Given the description of an element on the screen output the (x, y) to click on. 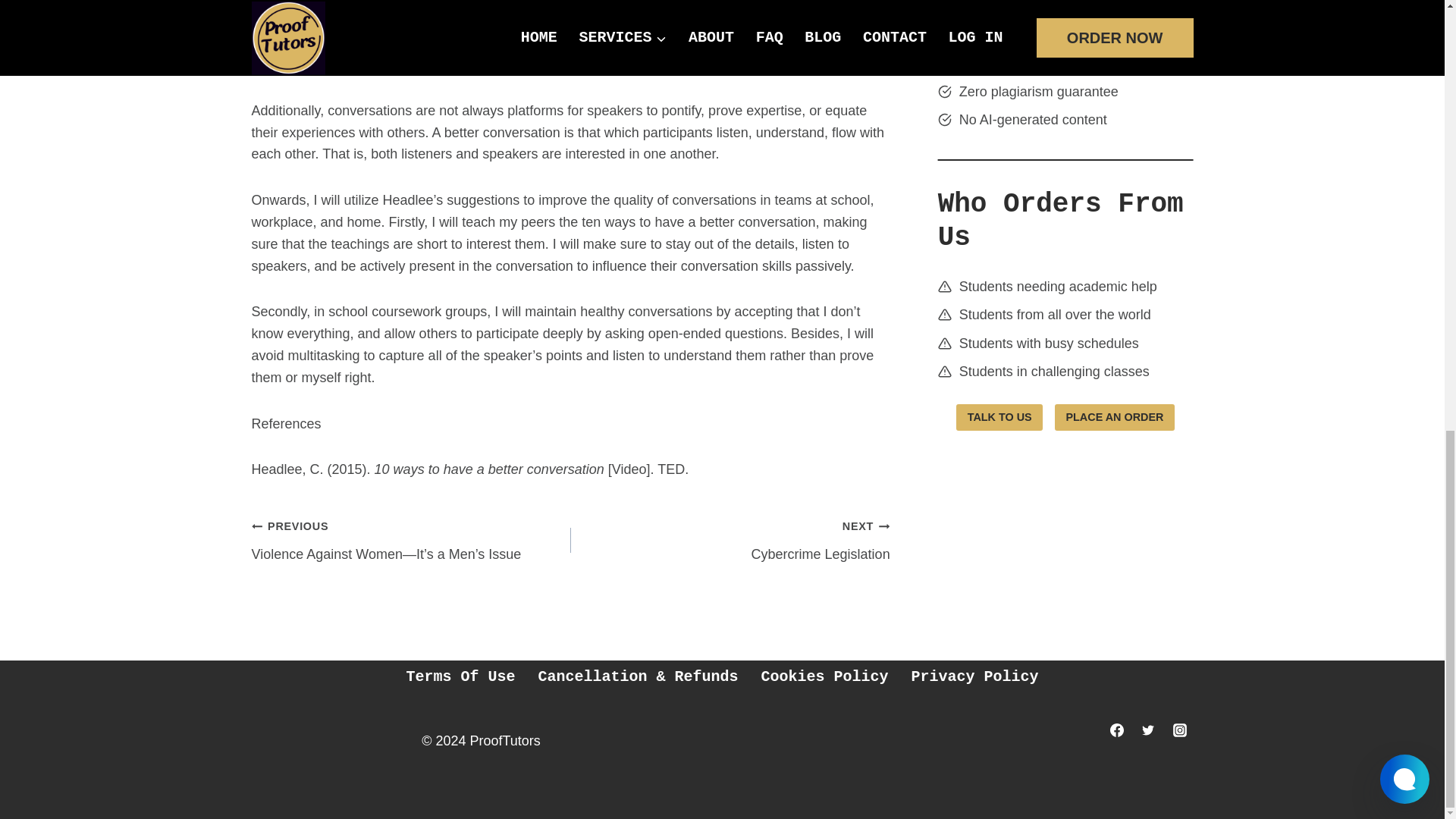
PLACE AN ORDER (1114, 417)
Cookies Policy (729, 540)
CLICK HERE TO HIRE A TUTOR NOW (824, 676)
TALK TO US (570, 18)
Terms Of Use (999, 417)
Privacy Policy (459, 676)
